Given the description of an element on the screen output the (x, y) to click on. 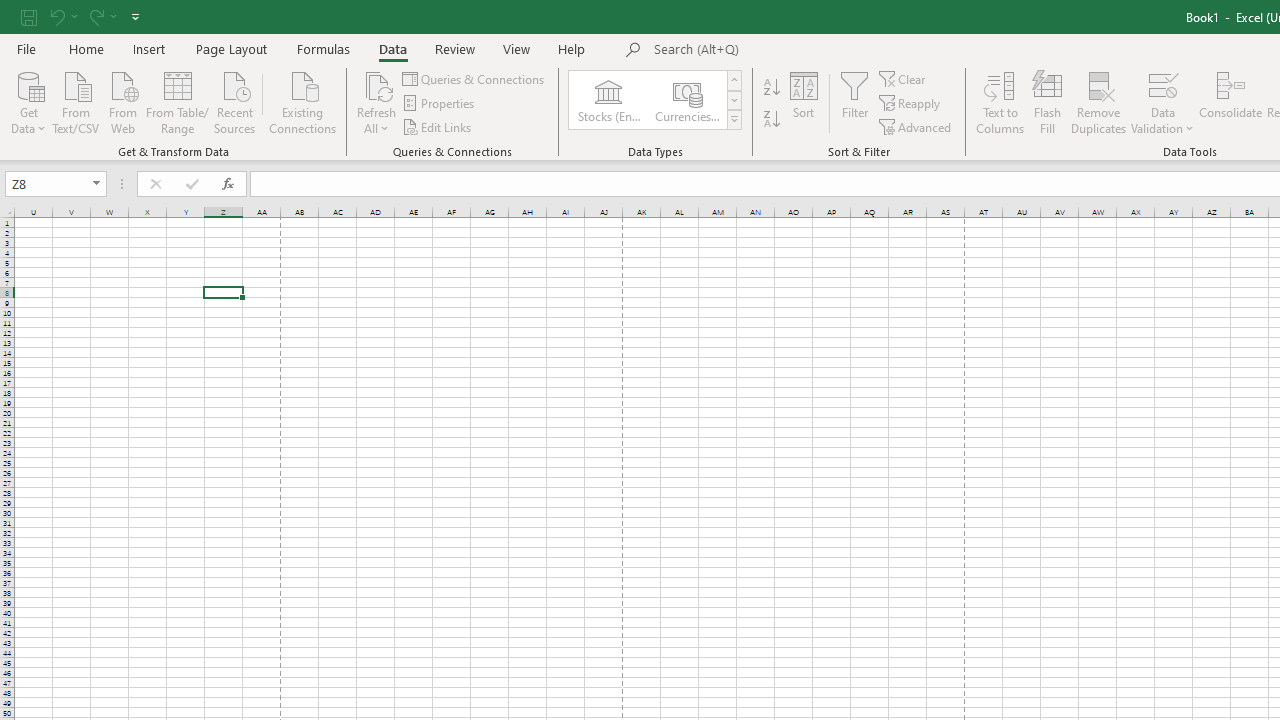
Sort... (804, 102)
Row up (734, 79)
Sort Z to A (772, 119)
Row Down (734, 100)
Get Data (28, 101)
Currencies (English) (686, 100)
Home (86, 48)
AutomationID: ConvertToLinkedEntity (655, 99)
Data Validation... (1162, 102)
Refresh All (376, 102)
Data Validation... (1162, 84)
Consolidate... (1230, 102)
